Given the description of an element on the screen output the (x, y) to click on. 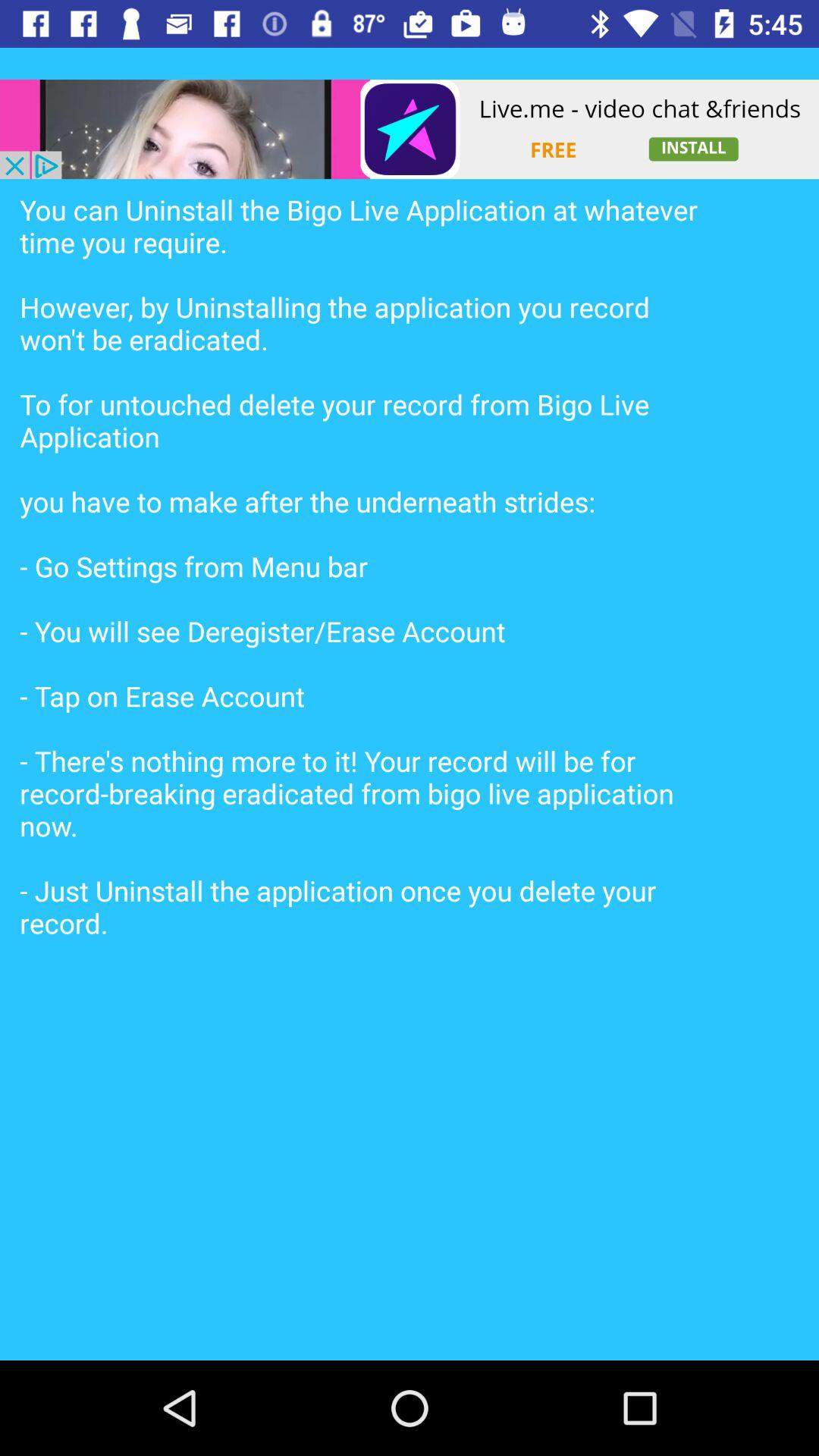
advertisement link (409, 129)
